Given the description of an element on the screen output the (x, y) to click on. 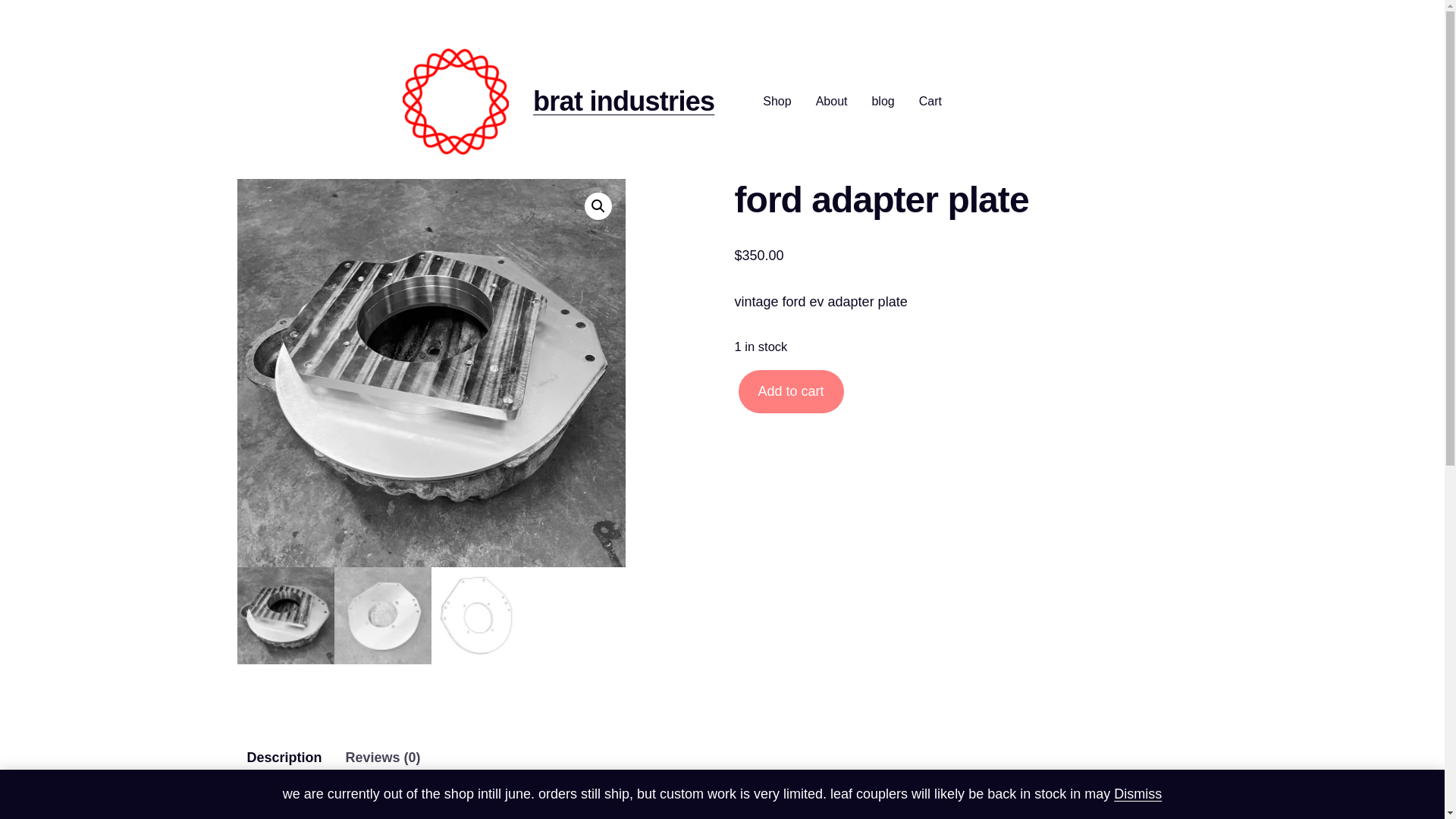
blog (881, 101)
About (831, 101)
Dismiss (1137, 793)
Description (284, 757)
Add to cart (791, 391)
brat industries (623, 101)
Cart (930, 101)
Shop (776, 101)
